Given the description of an element on the screen output the (x, y) to click on. 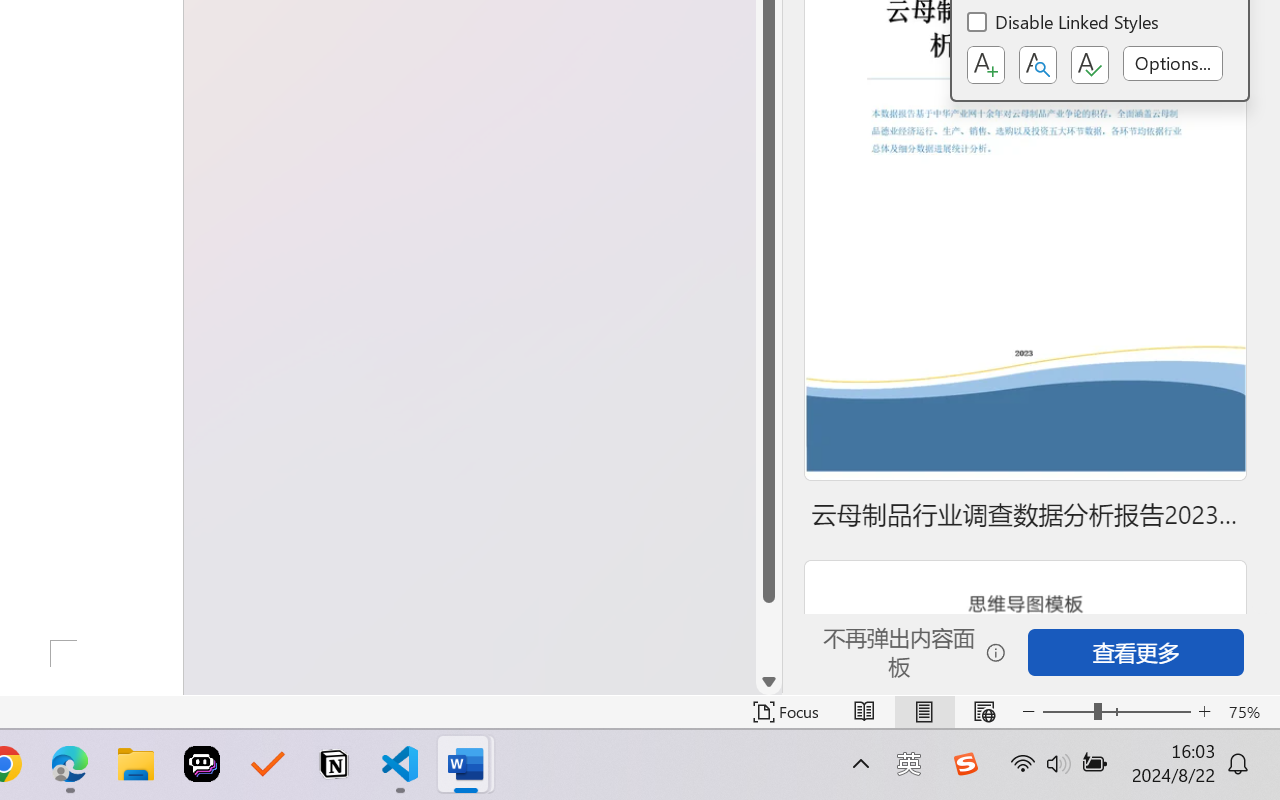
Focus  (786, 712)
Web Layout (984, 712)
Disable Linked Styles (1064, 24)
Class: Image (965, 764)
Page down (769, 635)
Class: NetUIButton (1089, 65)
Options... (1172, 63)
Read Mode (864, 712)
Zoom (1116, 712)
Print Layout (924, 712)
Line down (769, 681)
Zoom Out (1067, 712)
Zoom In (1204, 712)
